Given the description of an element on the screen output the (x, y) to click on. 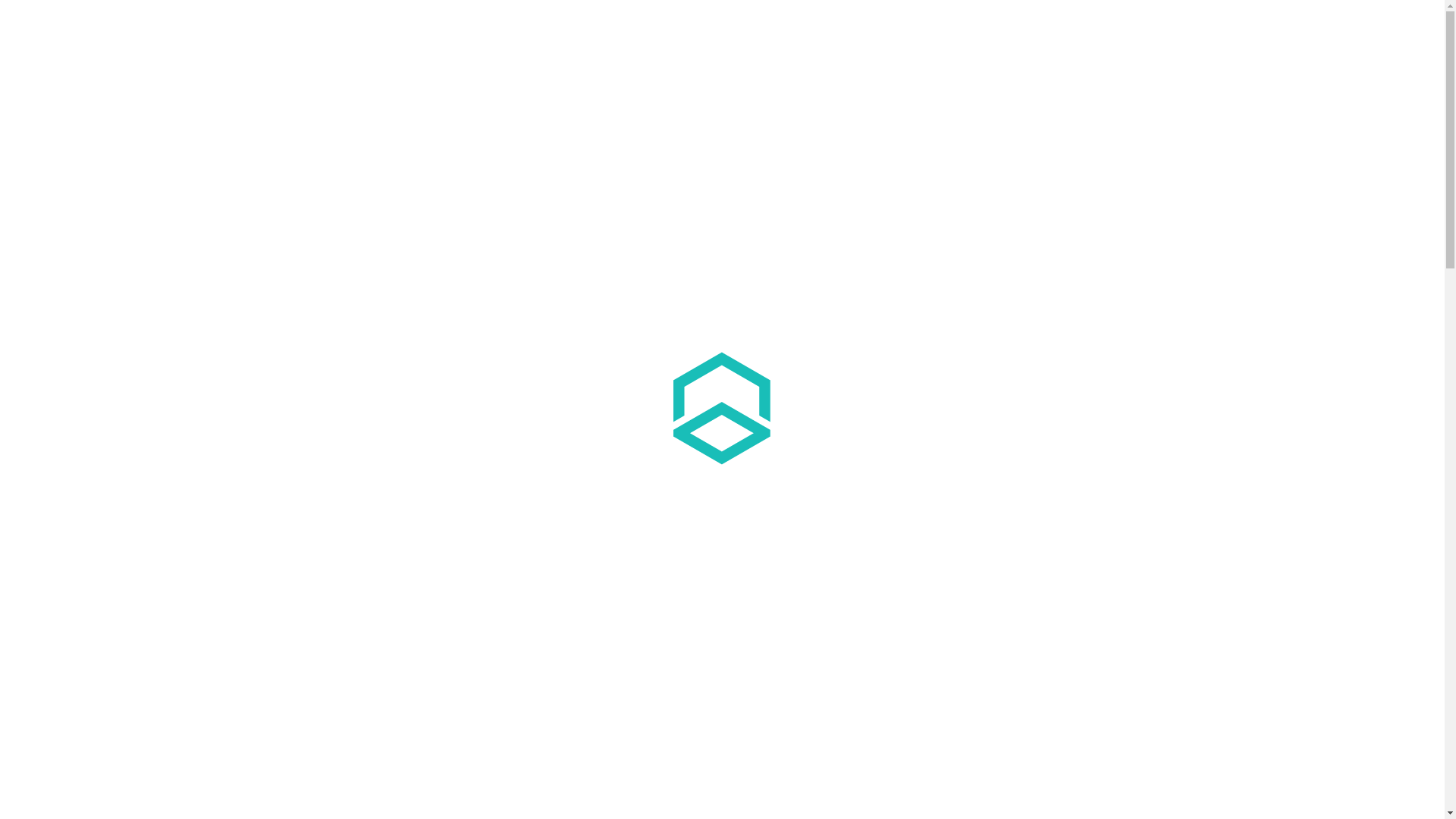
PRICING Element type: text (1317, 33)
READ MORE Element type: text (722, 664)
SERVICES Element type: text (1157, 33)
READ MORE Element type: text (396, 649)
ABOUT Element type: text (1215, 33)
BLOG Element type: text (1264, 33)
HOME Element type: text (1100, 33)
Skip to content Element type: text (1407, 13)
CONTACT Element type: text (1377, 33)
Above The Baseboard Element type: hover (160, 32)
READ MORE Element type: text (1048, 664)
